Given the description of an element on the screen output the (x, y) to click on. 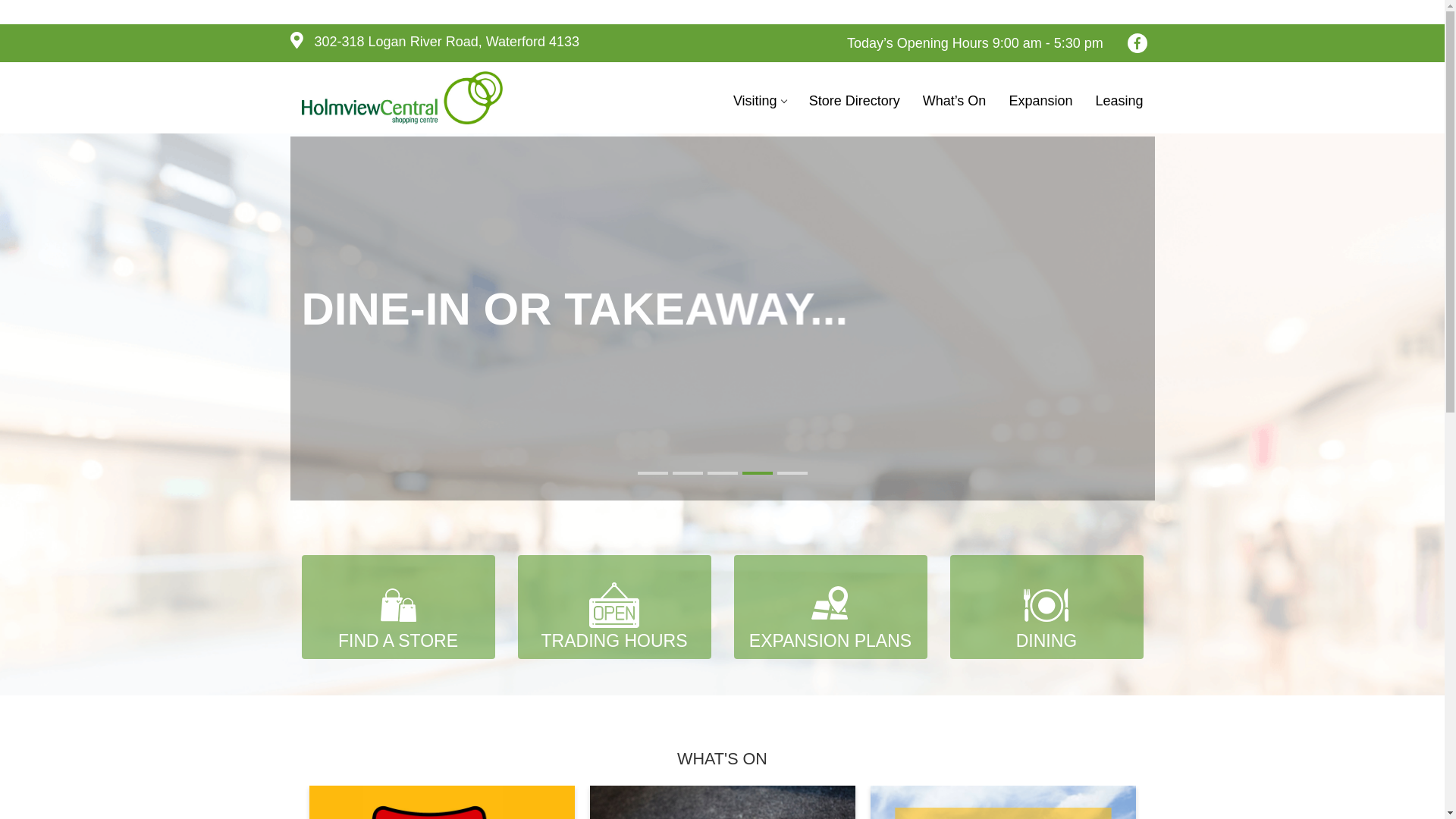
TRADING HOURS Element type: text (613, 606)
Visiting Element type: text (759, 99)
Leasing Element type: text (1118, 99)
302-318 Logan River Road, Waterford 4133 Element type: text (434, 41)
EXPANSION PLANS Element type: text (830, 606)
HOLMVIEW CENTRAL EXPANSION Element type: text (407, 308)
Store Directory Element type: text (854, 99)
DINING Element type: text (1045, 606)
Expansion Element type: text (1040, 99)
FIND A STORE Element type: text (398, 606)
